Given the description of an element on the screen output the (x, y) to click on. 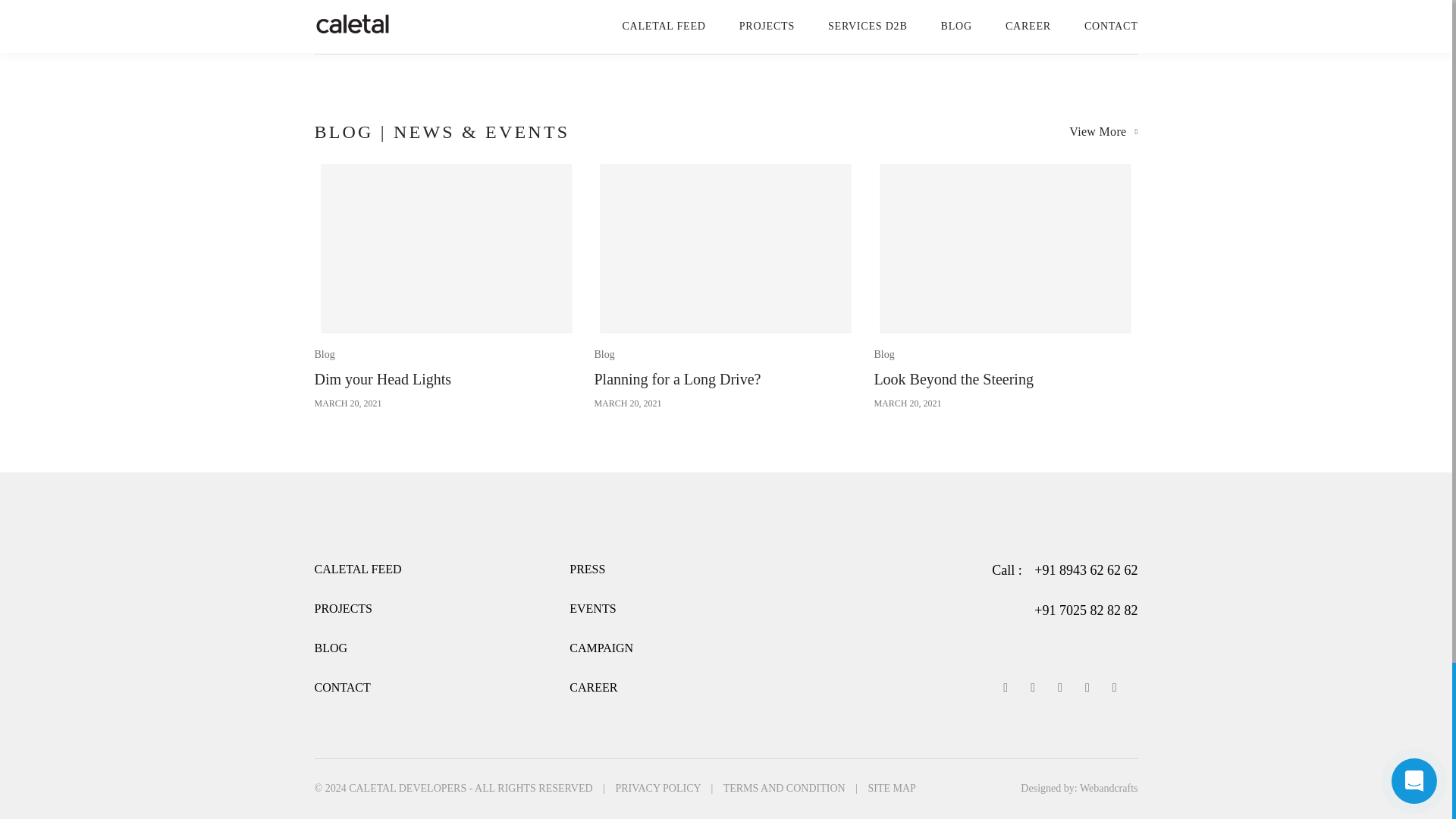
CALETAL FEED (357, 568)
PRESS (587, 568)
CAREER (725, 285)
View More (1005, 285)
CONTACT (593, 686)
PROJECTS (1102, 132)
CAMPAIGN (341, 686)
